Given the description of an element on the screen output the (x, y) to click on. 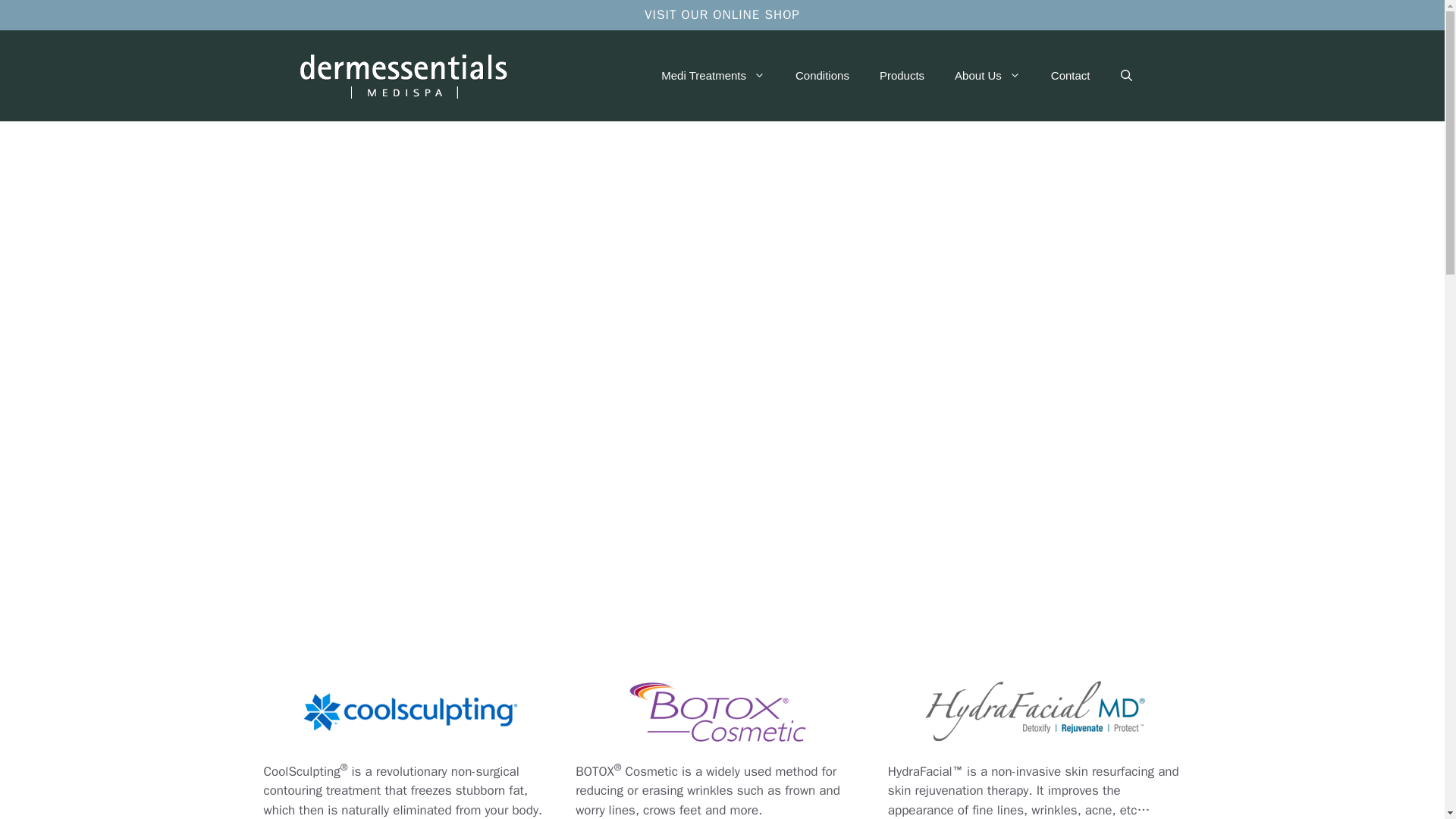
About Us (987, 75)
VISIT OUR ONLINE SHOP (722, 14)
Medi Treatments (713, 75)
Coolsculpting - Freese your fat away (410, 712)
Contact (1070, 75)
Hydrafacial -  Skin resurfacing and skin rejuvenation (1034, 712)
Conditions (822, 75)
Products (901, 75)
Botox Cosmetic - Smooth face lines and wrinkles (721, 712)
